Given the description of an element on the screen output the (x, y) to click on. 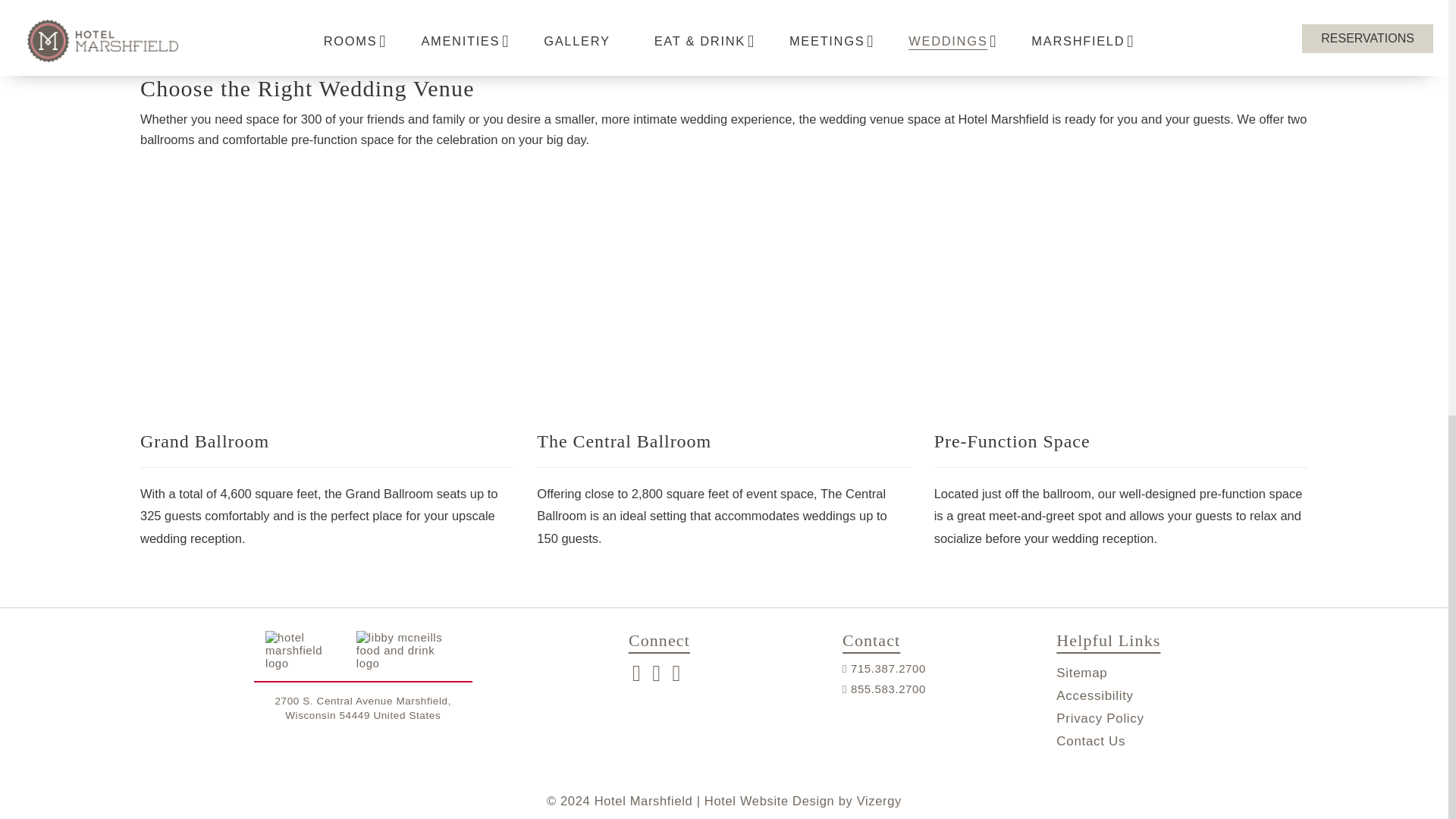
Link to Larger Item Photo (326, 301)
Link to Larger Item Photo (724, 301)
Link to Larger Item Photo (1120, 301)
